Given the description of an element on the screen output the (x, y) to click on. 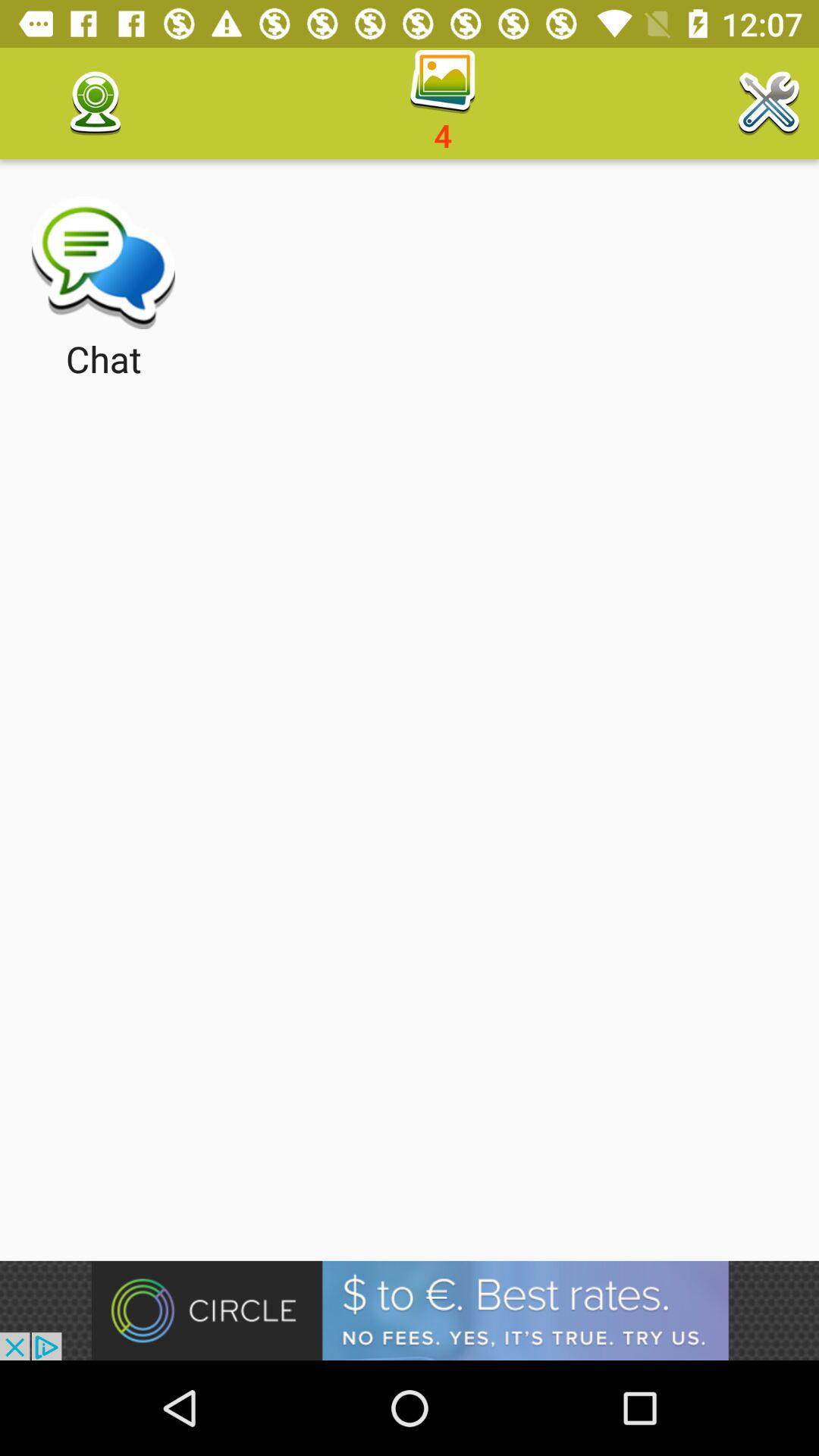
open the advertisement link (409, 1310)
